Given the description of an element on the screen output the (x, y) to click on. 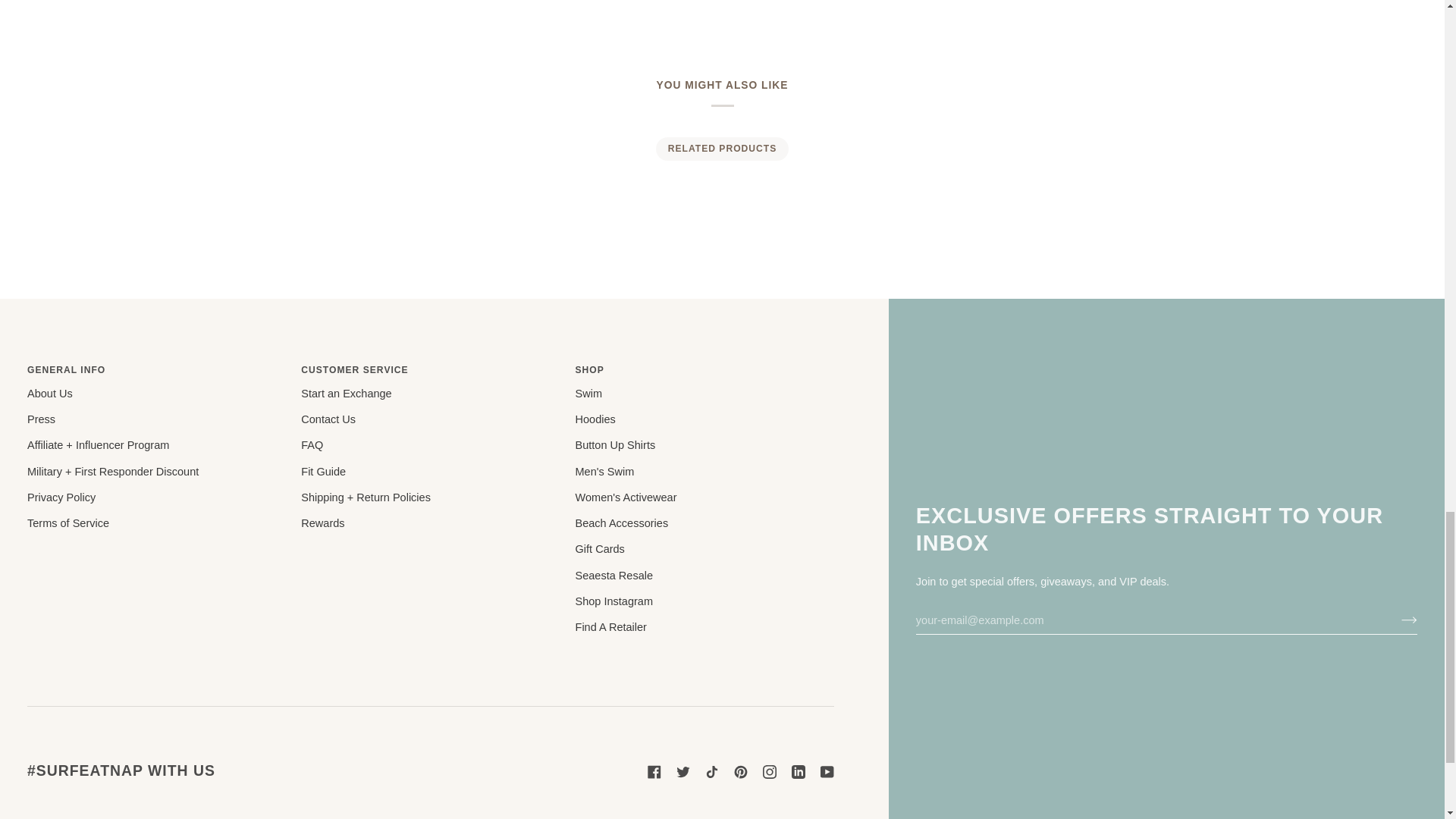
RELATED PRODUCTS (722, 148)
Instagram (769, 771)
Pinterest (740, 771)
Linkedin (798, 771)
Tiktok (711, 771)
Facebook (654, 771)
Twitter (683, 771)
YouTube (827, 771)
